Given the description of an element on the screen output the (x, y) to click on. 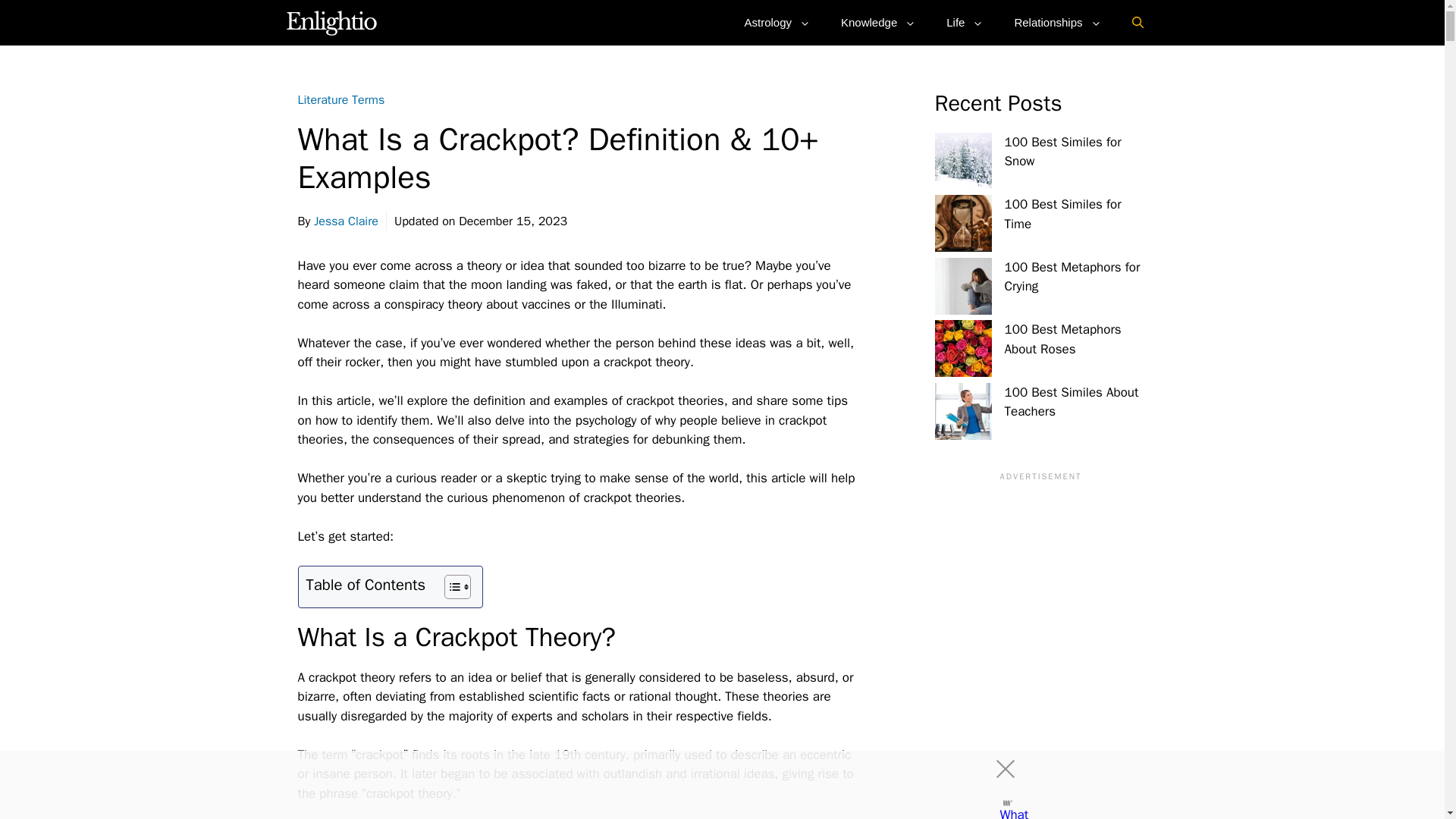
Astrology (777, 22)
Enlightio (331, 22)
Literature Terms (340, 99)
Jessa Claire (346, 221)
Knowledge (878, 22)
Relationships (1057, 22)
Life (964, 22)
